Given the description of an element on the screen output the (x, y) to click on. 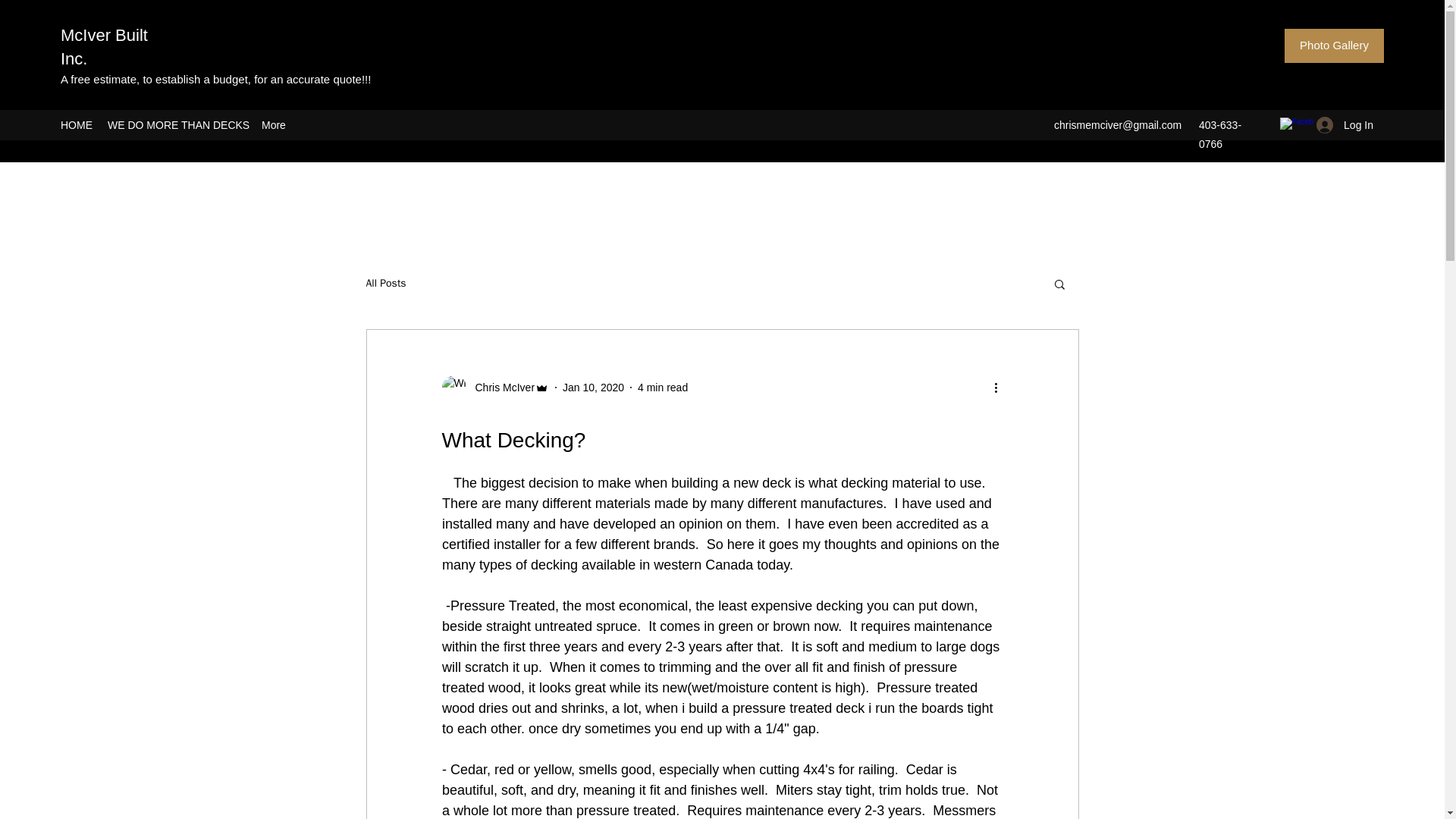
Photo Gallery (1334, 45)
Log In (1345, 124)
All Posts (385, 283)
Chris McIver (494, 387)
WE DO MORE THAN DECKS (176, 124)
Chris McIver (499, 387)
HOME (76, 124)
McIver Built Inc. (104, 46)
4 min read (662, 387)
Jan 10, 2020 (593, 387)
